Given the description of an element on the screen output the (x, y) to click on. 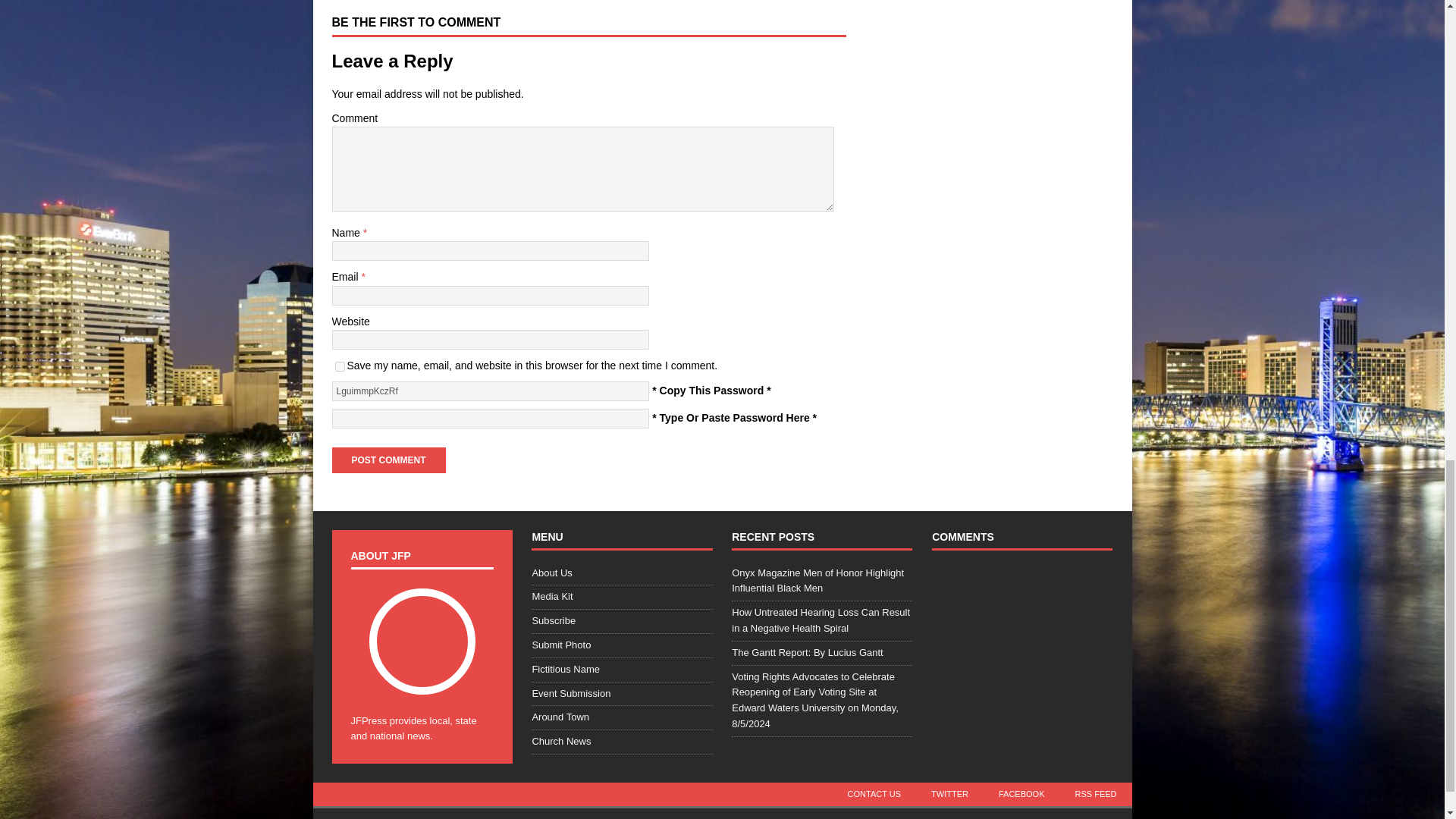
yes (339, 366)
Post Comment (388, 460)
LguimmpKczRf (490, 391)
